Given the description of an element on the screen output the (x, y) to click on. 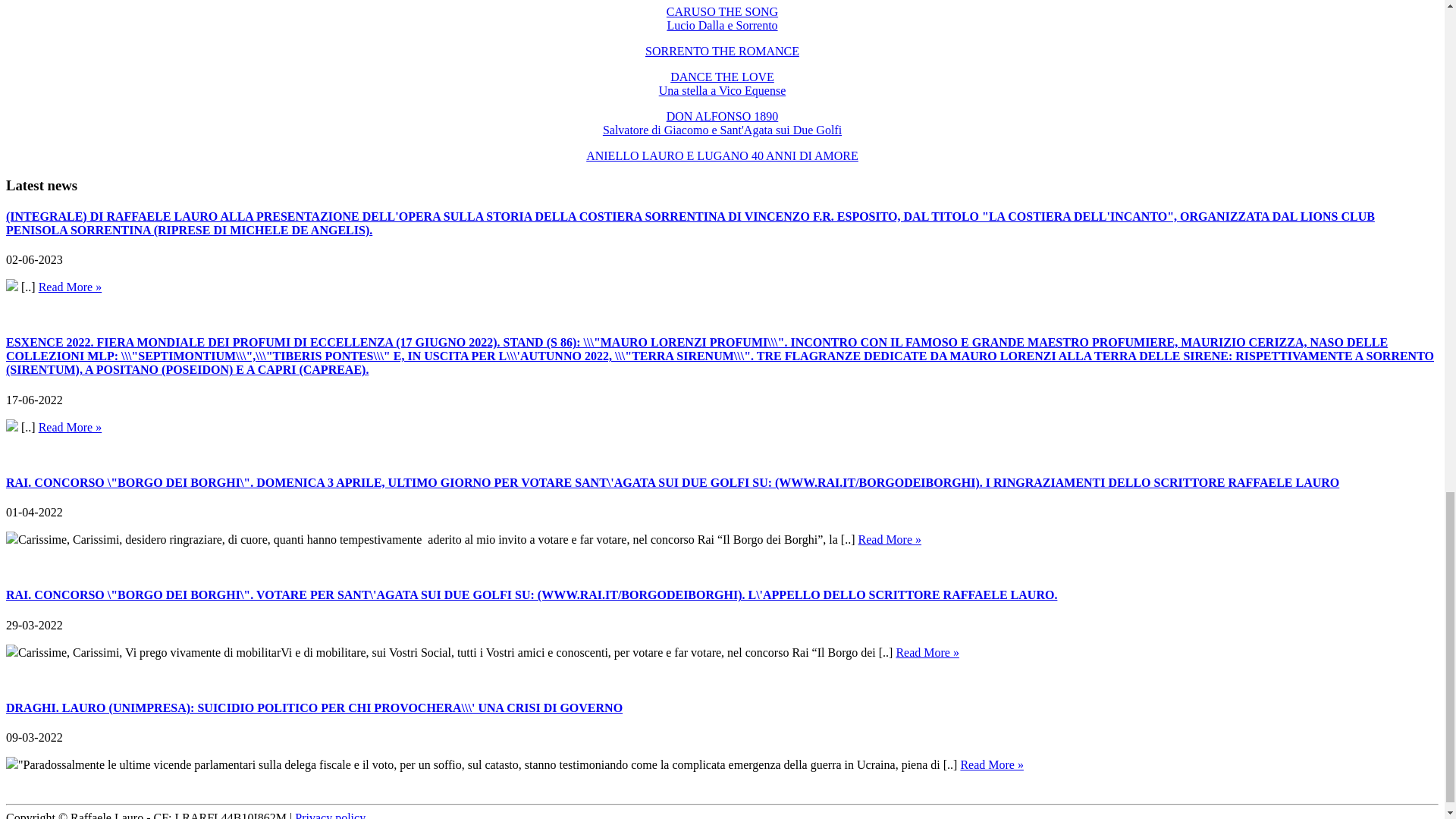
ANIELLO LAURO E LUGANO 40 ANNI DI AMORE (722, 155)
SORRENTO THE ROMANCE (722, 83)
